Given the description of an element on the screen output the (x, y) to click on. 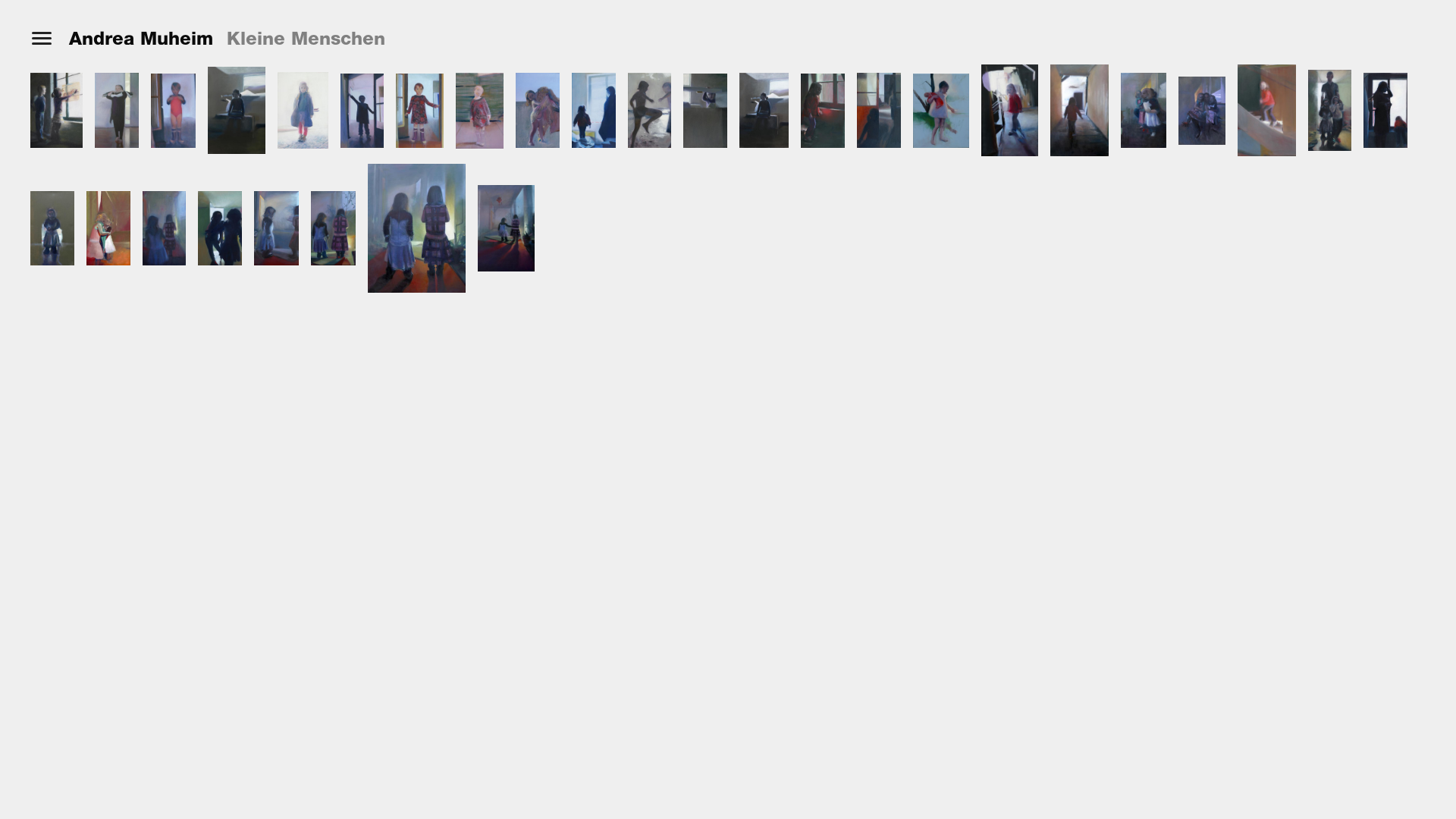
Andrea Muheim Element type: text (141, 39)
